Given the description of an element on the screen output the (x, y) to click on. 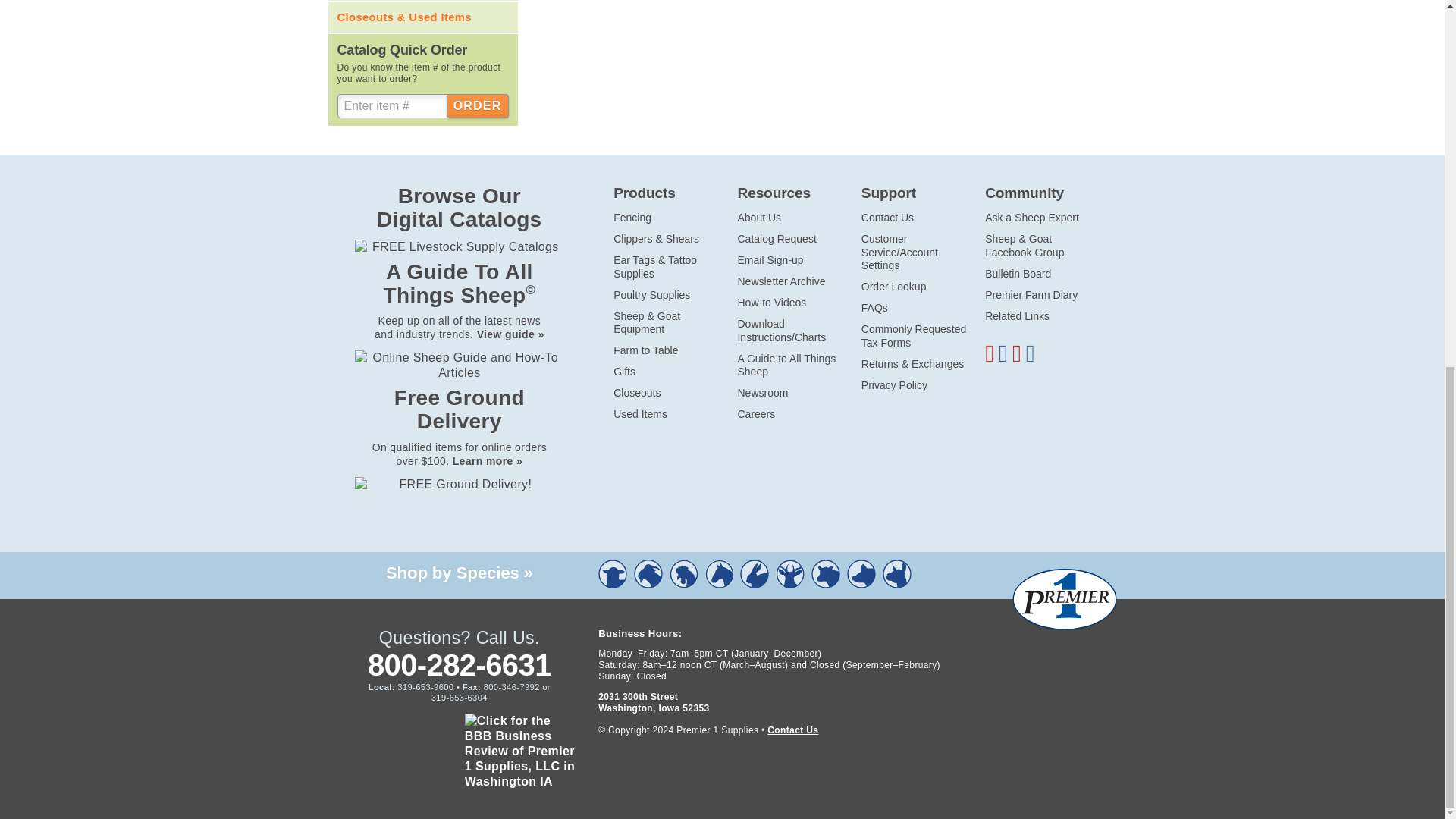
ORDER (477, 105)
